Given the description of an element on the screen output the (x, y) to click on. 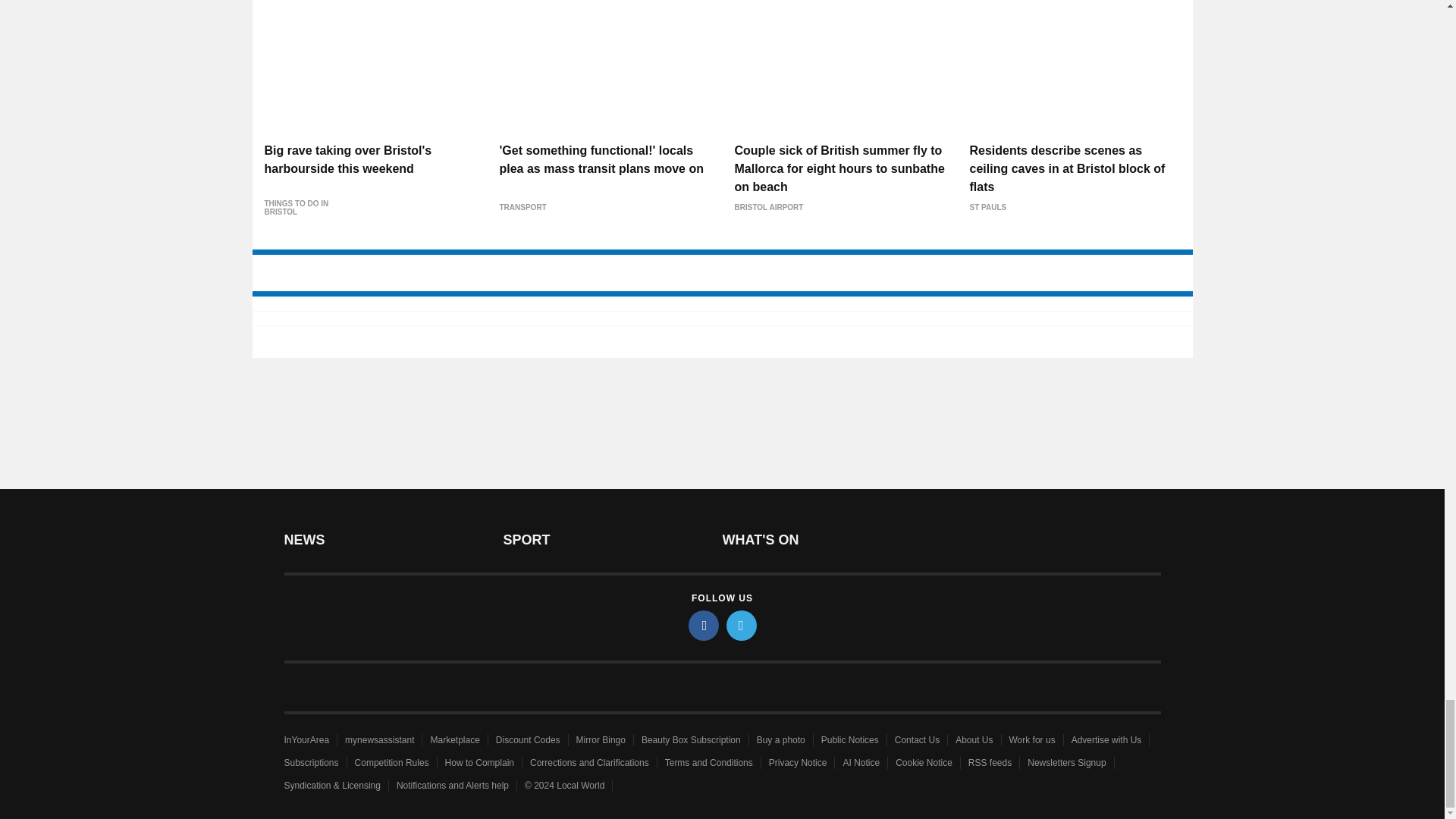
facebook (703, 625)
twitter (741, 625)
